Given the description of an element on the screen output the (x, y) to click on. 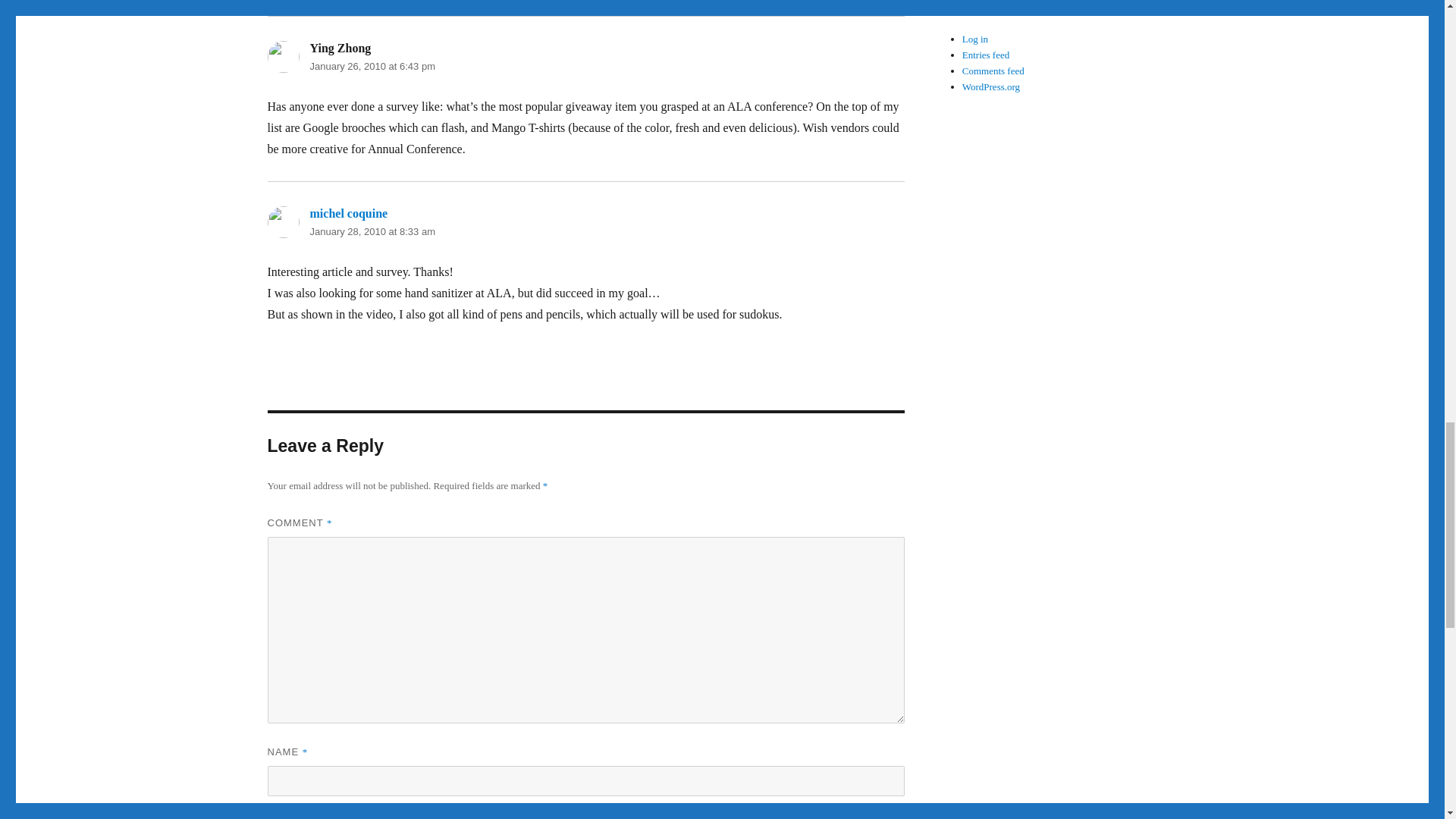
January 26, 2010 at 6:43 pm (371, 66)
michel coquine (347, 213)
January 28, 2010 at 8:33 am (371, 231)
